Given the description of an element on the screen output the (x, y) to click on. 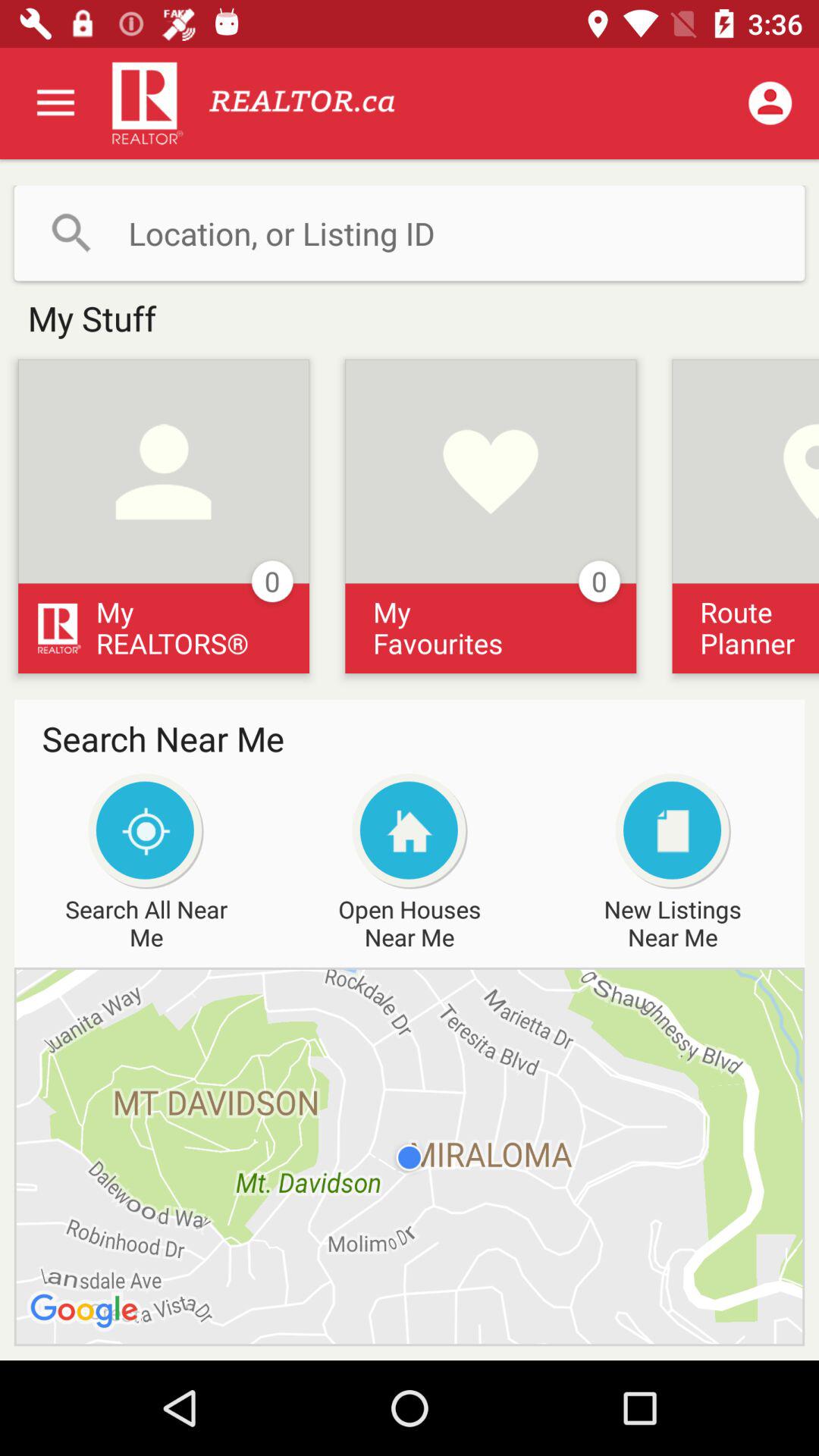
open item below search all near icon (409, 1156)
